Given the description of an element on the screen output the (x, y) to click on. 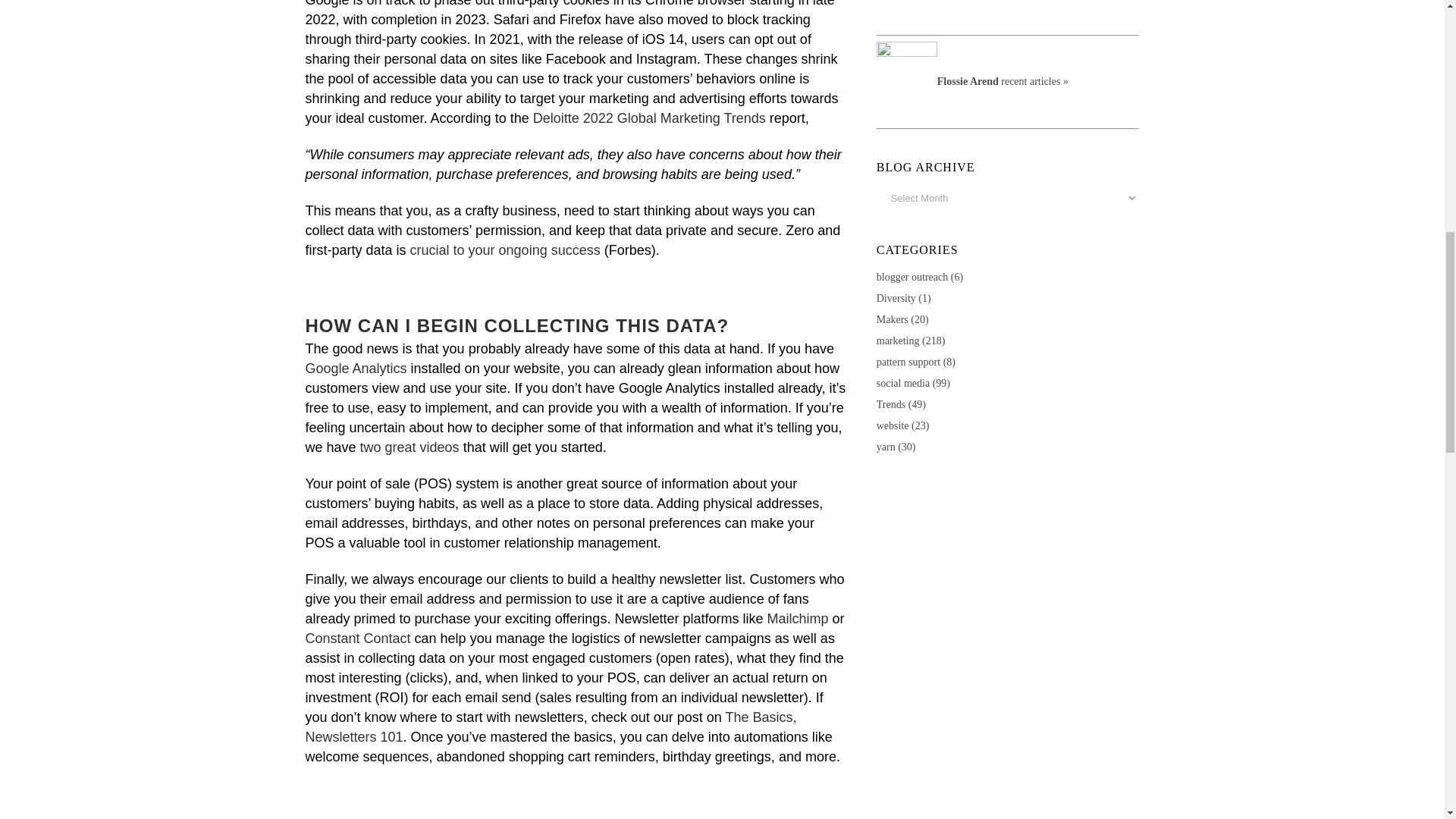
crucial to your ongoing success (504, 249)
Deloitte 2022 Global Marketing Trends (648, 118)
Google Analytics (355, 368)
